Given the description of an element on the screen output the (x, y) to click on. 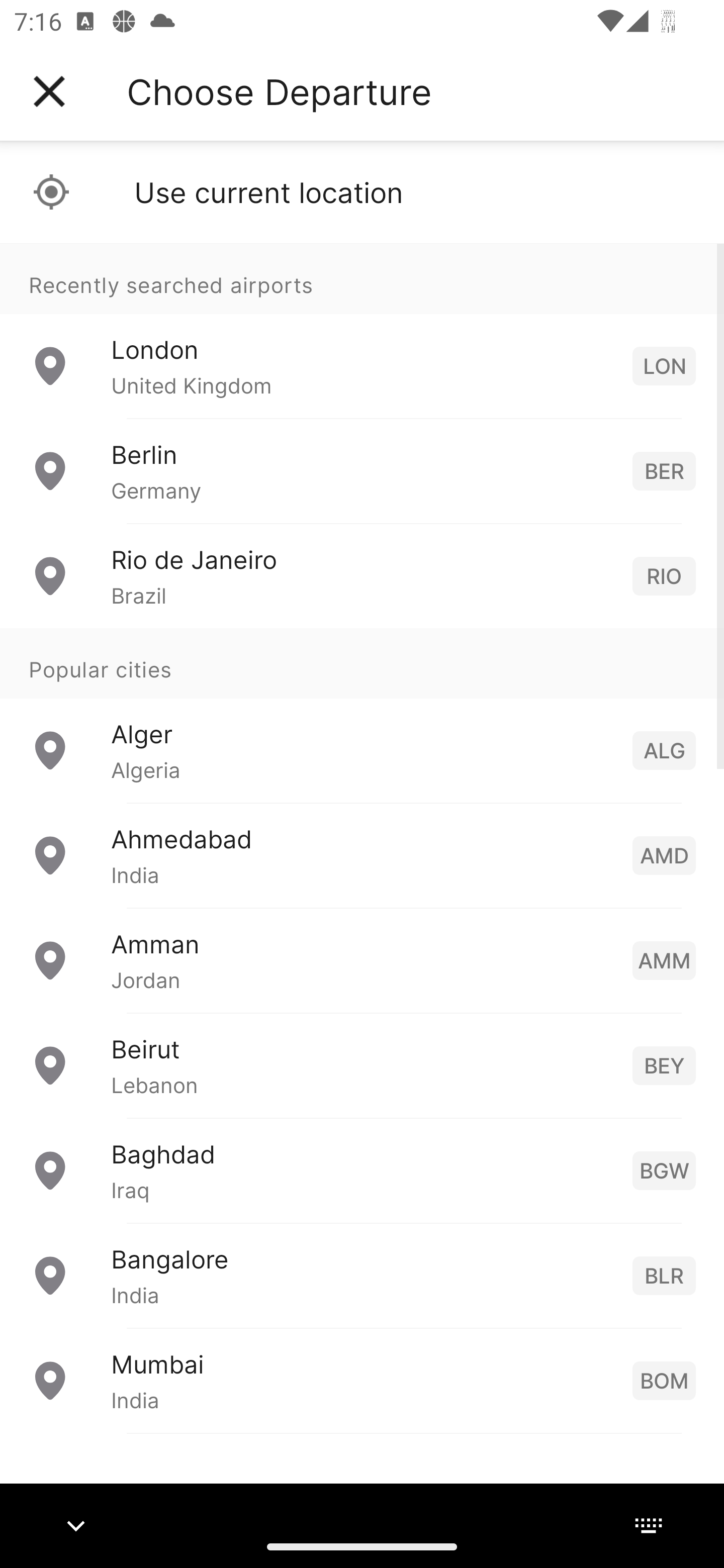
Choose Departure (279, 91)
Use current location (362, 192)
Recently searched airports (362, 278)
Berlin Germany BER (362, 470)
Rio de Janeiro Brazil RIO (362, 575)
Popular cities Alger Algeria ALG (362, 715)
Popular cities (362, 663)
Ahmedabad India AMD (362, 854)
Amman Jordan AMM (362, 959)
Beirut Lebanon BEY (362, 1064)
Baghdad Iraq BGW (362, 1170)
Bangalore India BLR (362, 1275)
Mumbai India BOM (362, 1380)
